Given the description of an element on the screen output the (x, y) to click on. 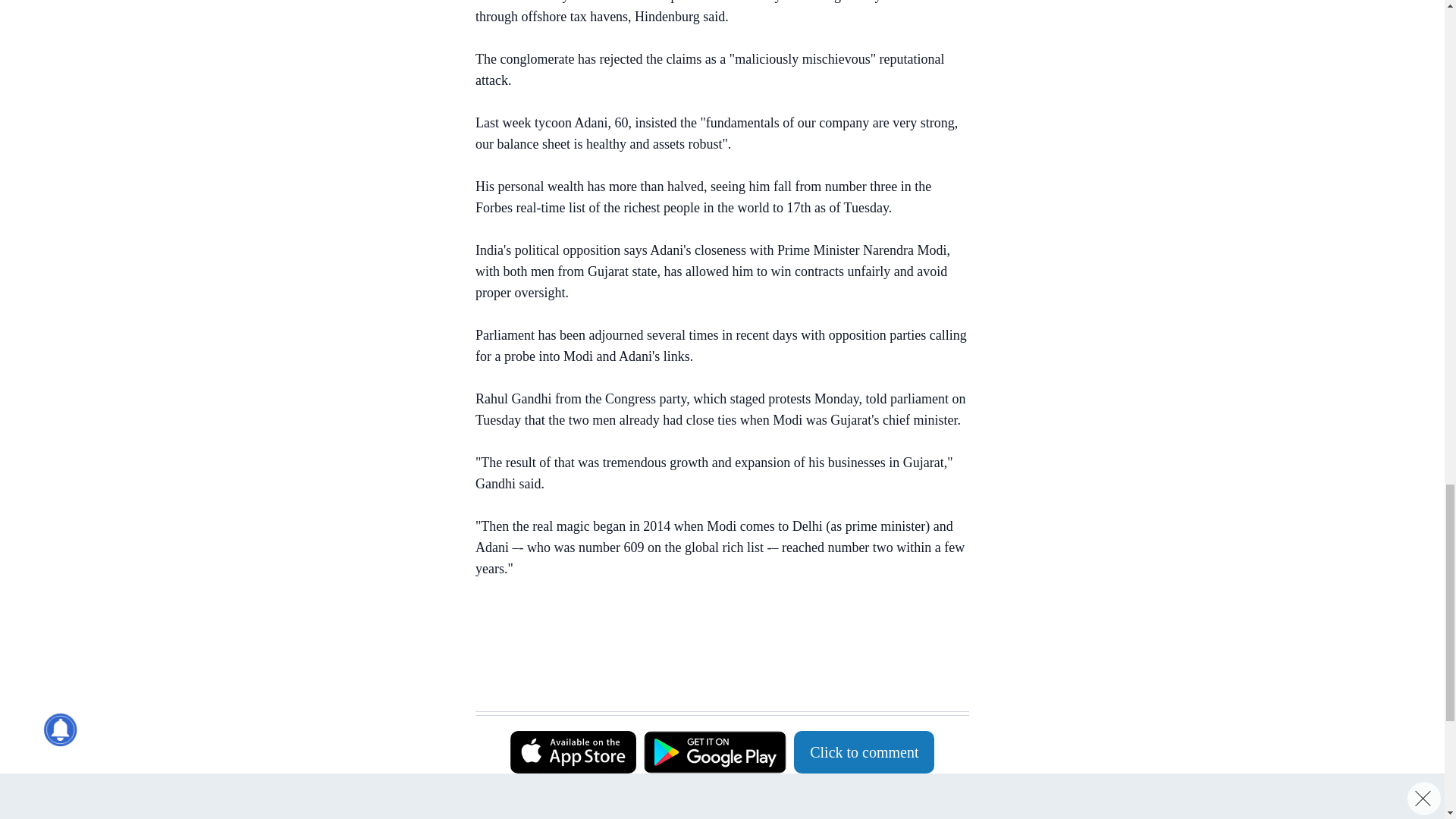
3rd party ad content (714, 673)
